Given the description of an element on the screen output the (x, y) to click on. 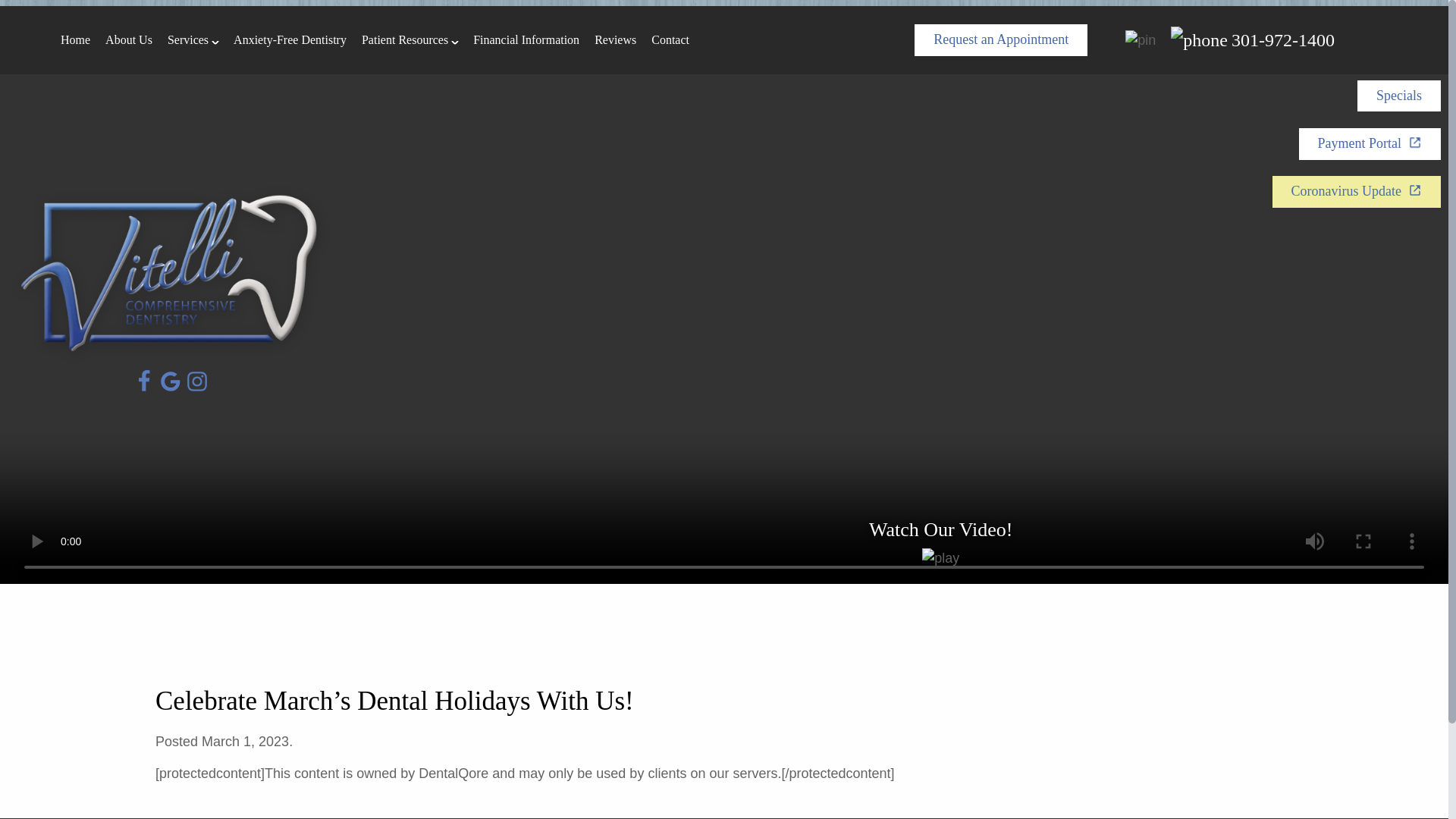
Instagram icon (197, 381)
Google icon (170, 381)
Facebook icon (143, 381)
